Given the description of an element on the screen output the (x, y) to click on. 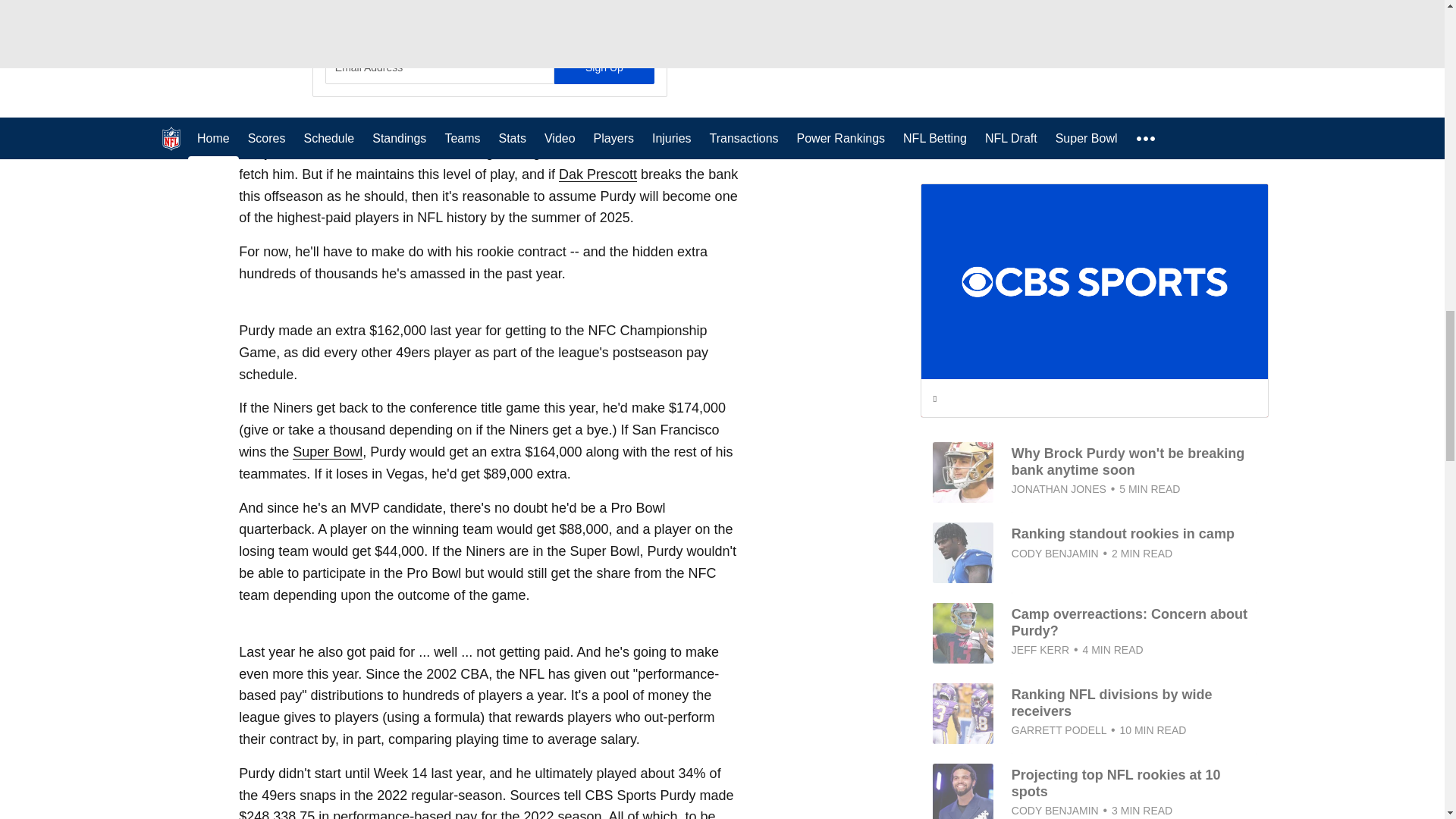
Sign Up (603, 67)
